Given the description of an element on the screen output the (x, y) to click on. 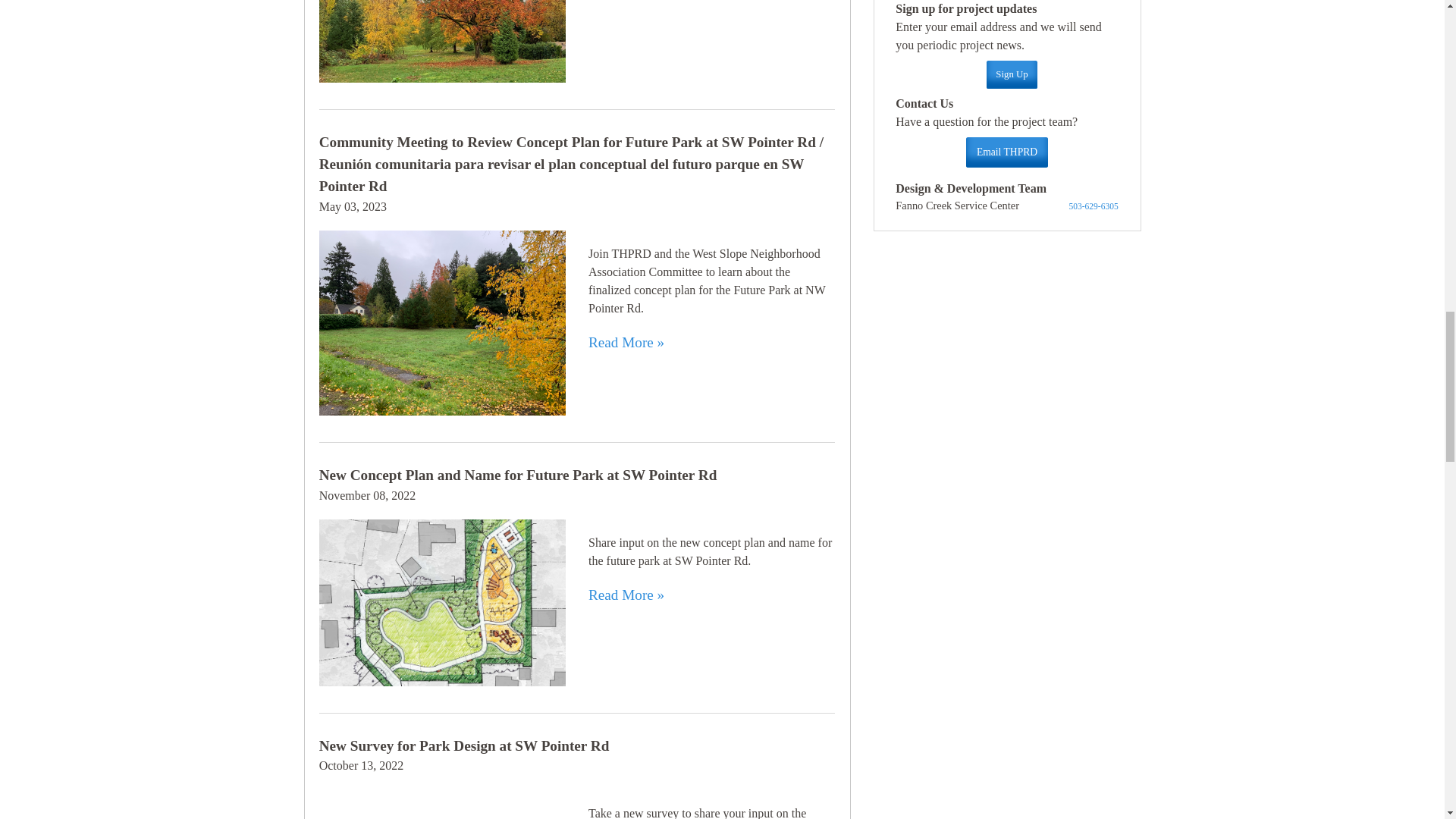
Email THPRD (1006, 152)
Sign Up (1012, 74)
